Given the description of an element on the screen output the (x, y) to click on. 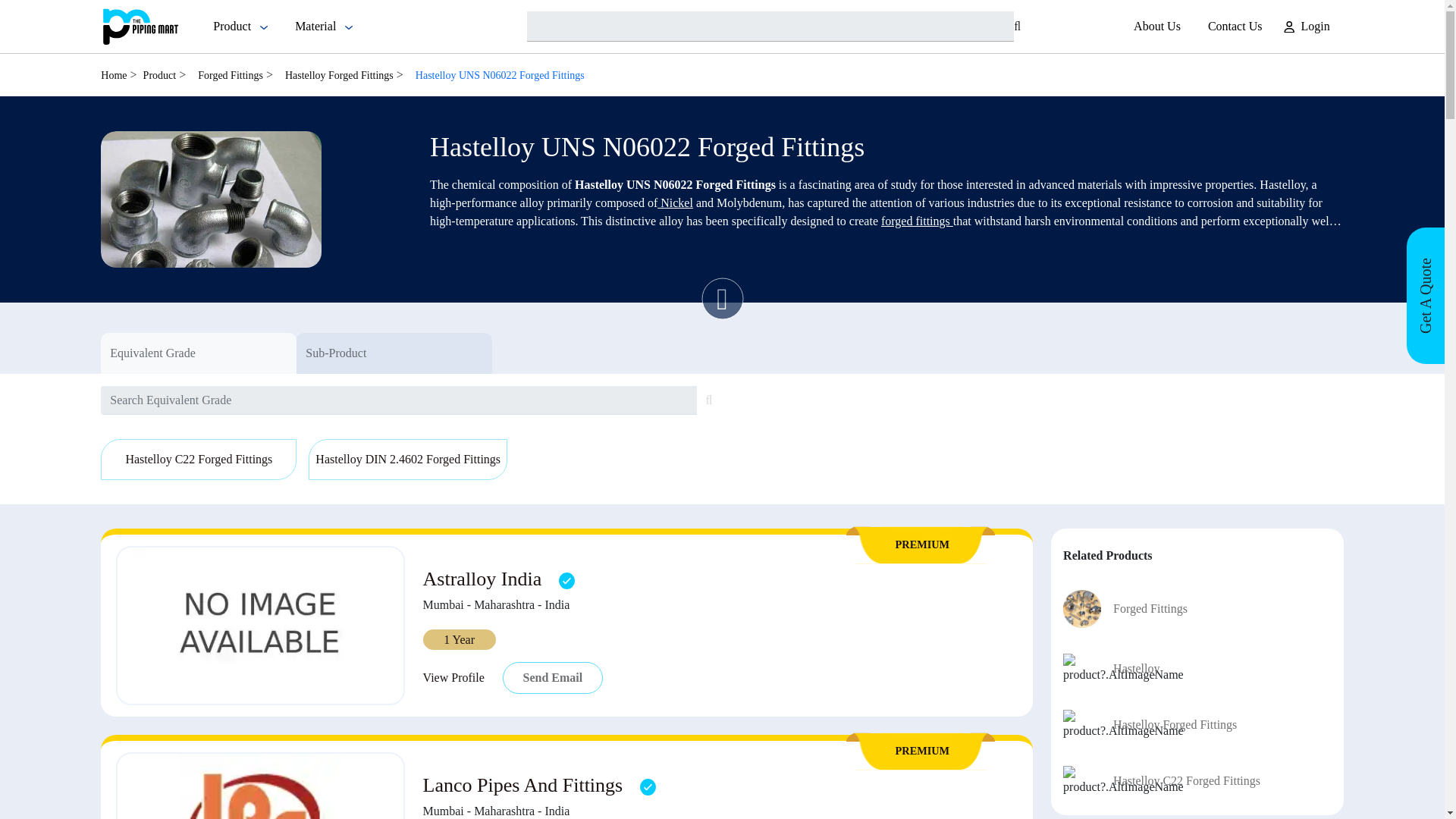
Piping Mart (140, 26)
Tax ID verified. Email verified. (648, 786)
Tax ID verified. Email verified. (567, 580)
